Given the description of an element on the screen output the (x, y) to click on. 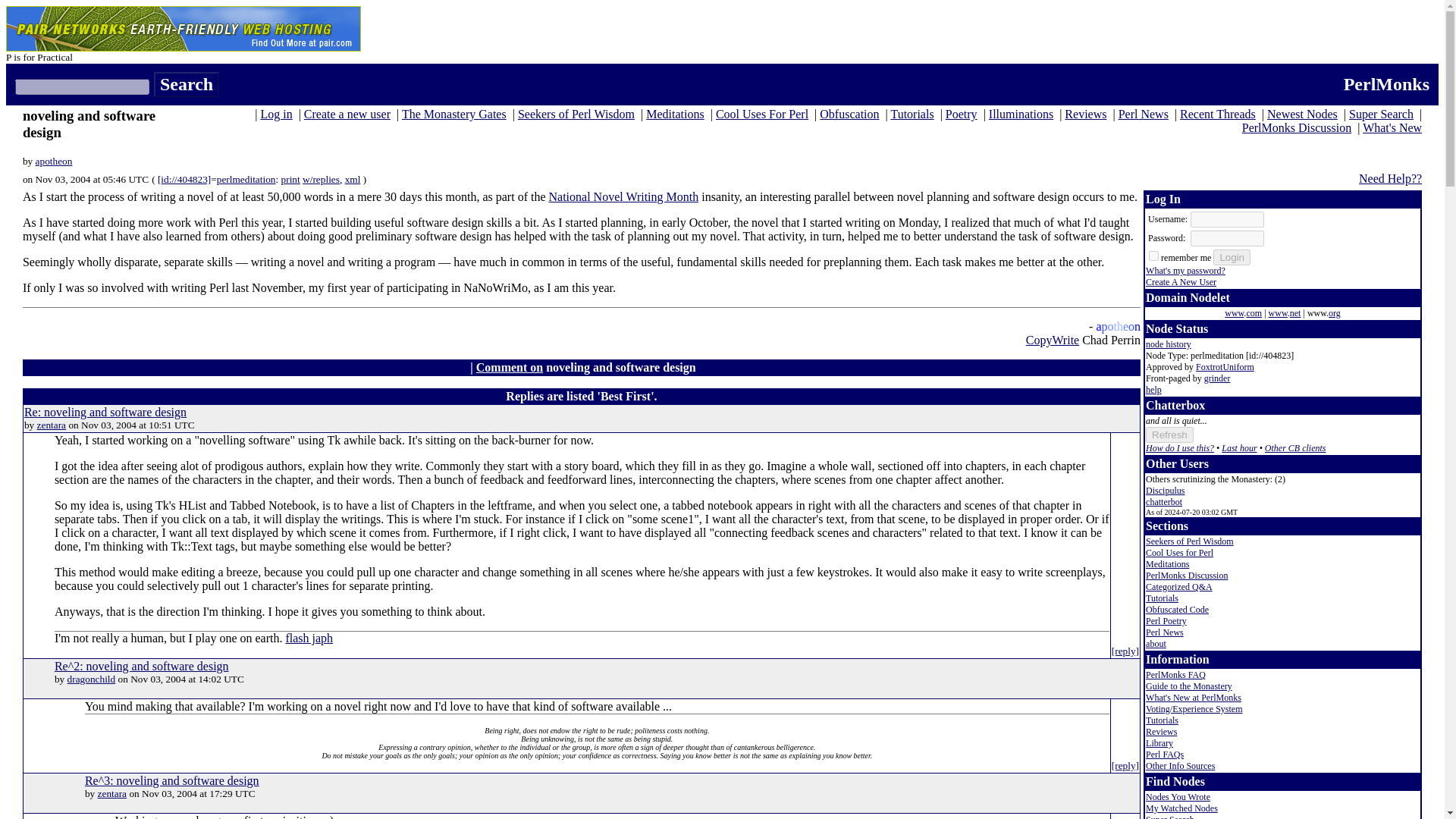
dragonchild (91, 678)
xml (353, 179)
CopyWrite (1052, 339)
Search (186, 84)
chatterbot's home node. Level 1 (1163, 501)
The Monastery Gates (453, 113)
Tutorials (911, 113)
Comment on (509, 367)
perlmeditation (246, 179)
Discipulus's home node. Level 20. Member of: janitors (1165, 490)
Illuminations (1020, 113)
Refresh (1169, 434)
Create a new user (347, 113)
print (290, 179)
PerlMonks (1386, 84)
